Given the description of an element on the screen output the (x, y) to click on. 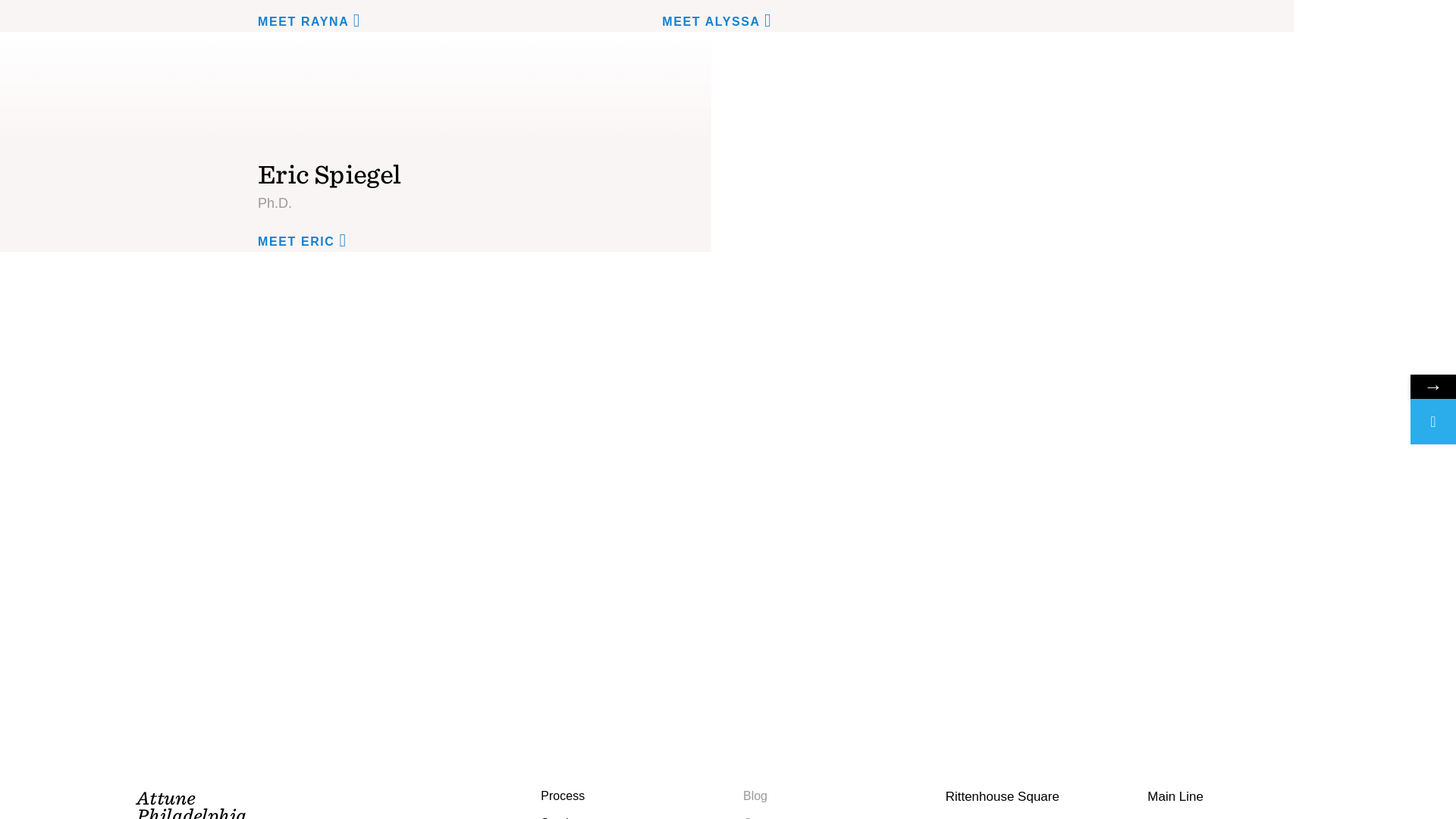
Process (562, 795)
MEET ERIC (307, 240)
MEET RAYNA (314, 20)
MEET ALYSSA (722, 20)
Careers (764, 817)
Attune Philadelphia Therapy Group (191, 803)
Blog (754, 795)
Services (563, 817)
